Given the description of an element on the screen output the (x, y) to click on. 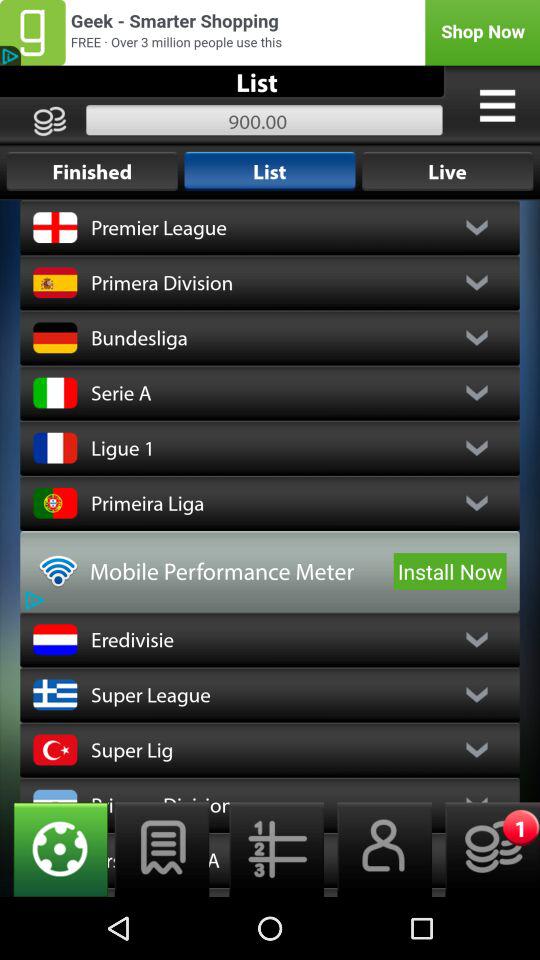
notification (486, 849)
